Given the description of an element on the screen output the (x, y) to click on. 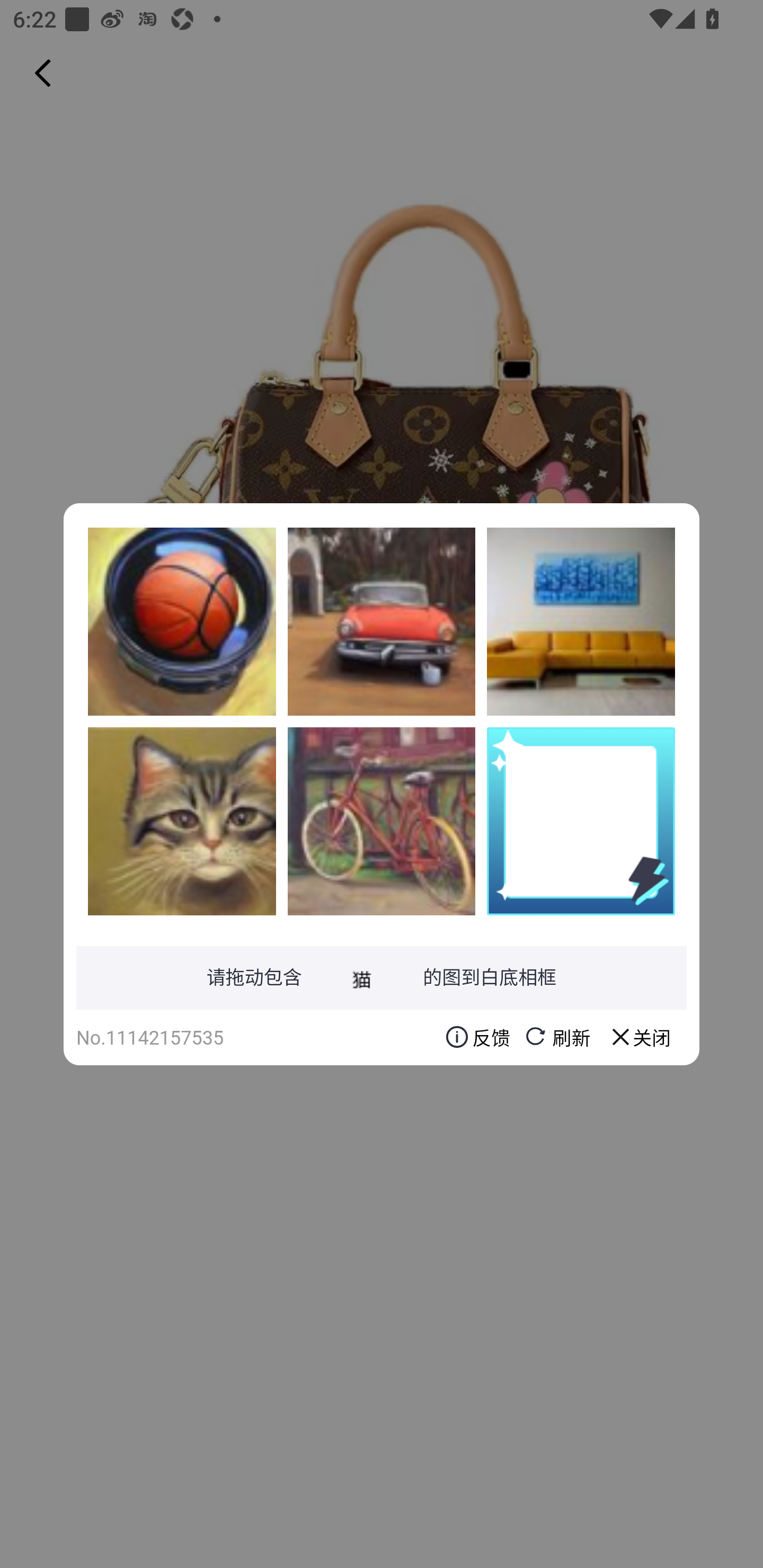
YM (580, 621)
1NdPo6PL (181, 820)
qfS2nx6glSE88y8RMl (381, 820)
